Given the description of an element on the screen output the (x, y) to click on. 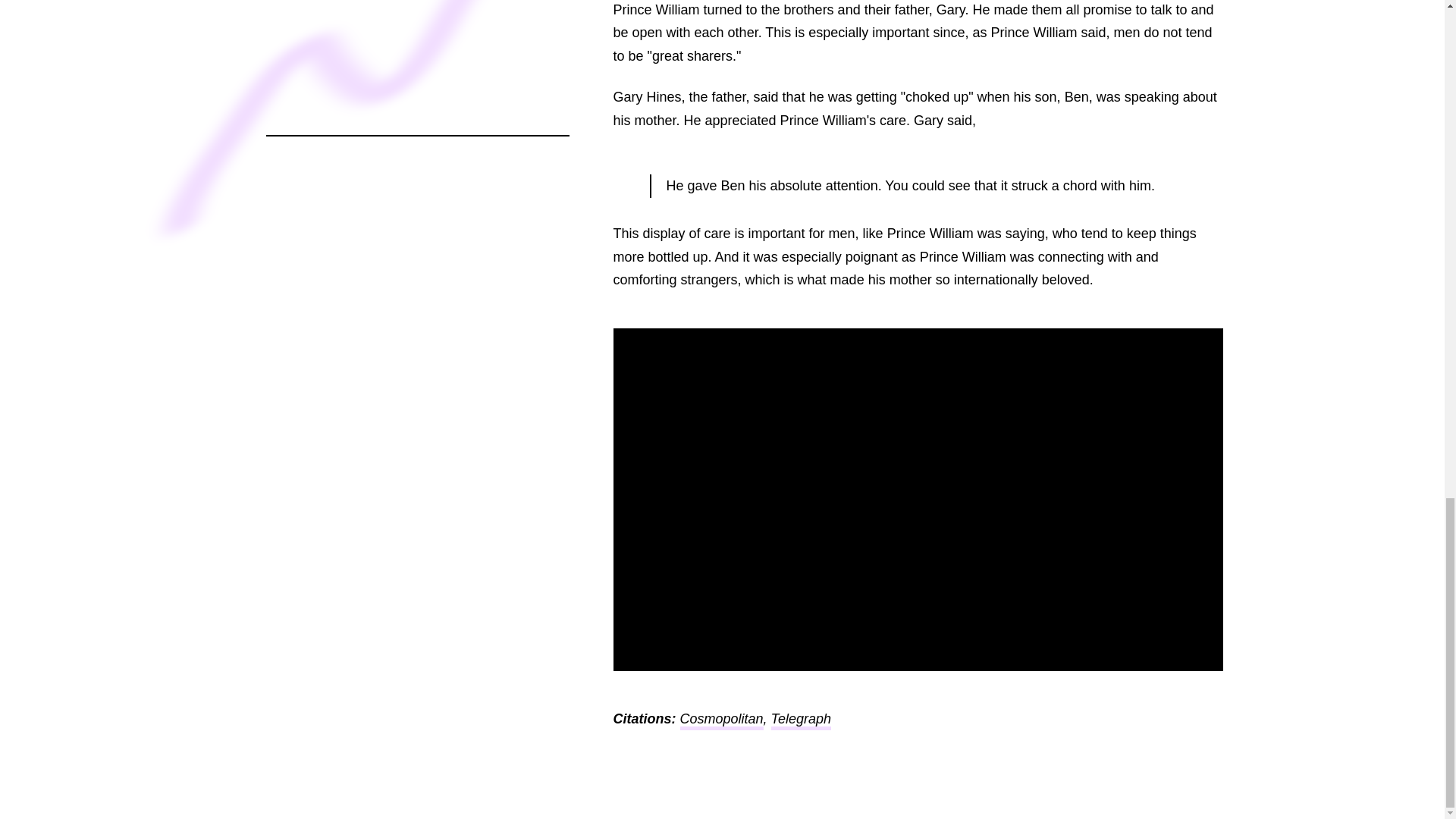
Cosmopolitan (720, 720)
Telegraph (801, 720)
